Given the description of an element on the screen output the (x, y) to click on. 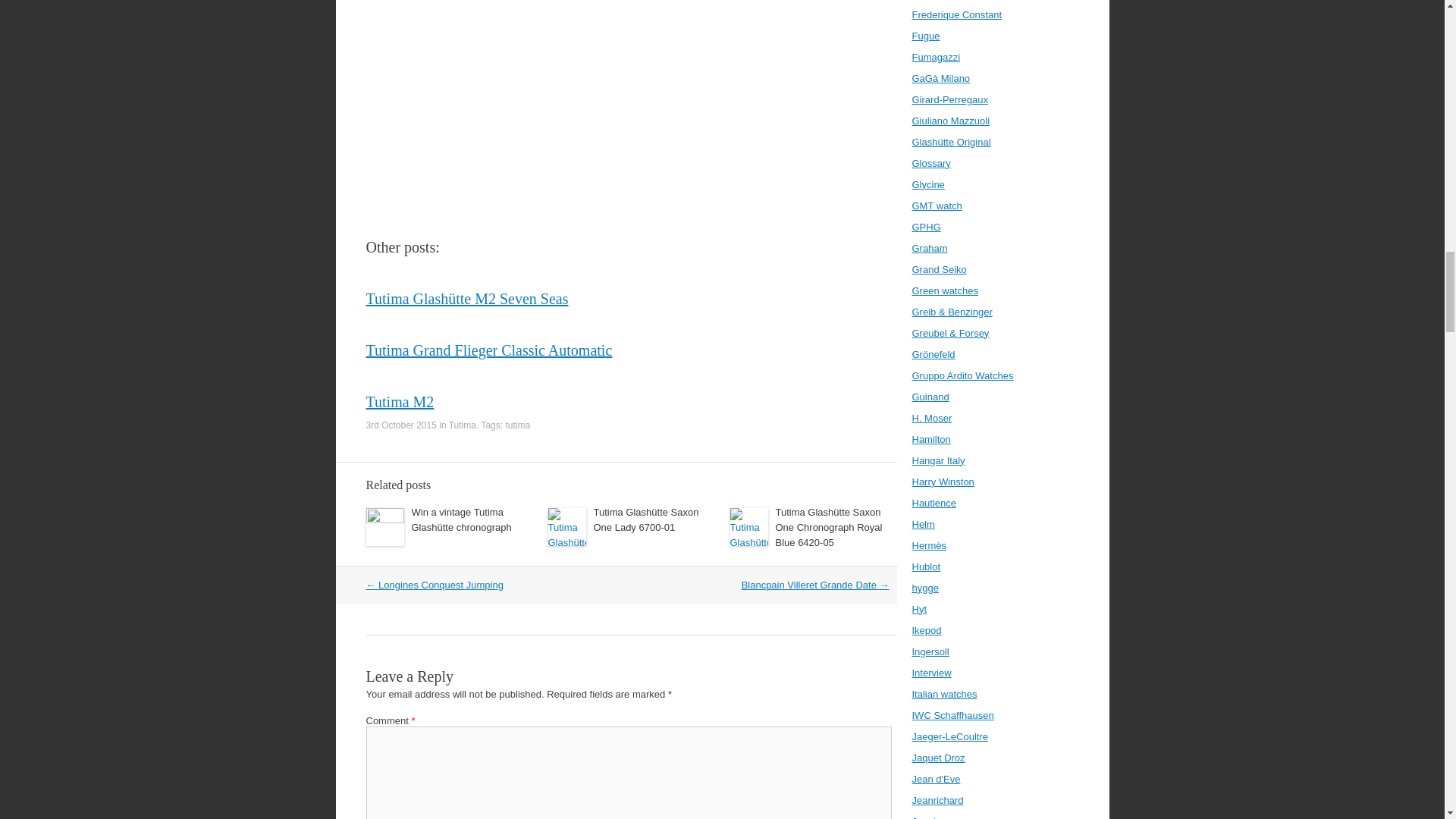
Tutima M2 (399, 401)
Tutima (462, 425)
3rd October 2015 (400, 425)
Tutima Grand Flieger Classic Automatic (488, 350)
tutima (517, 425)
